Given the description of an element on the screen output the (x, y) to click on. 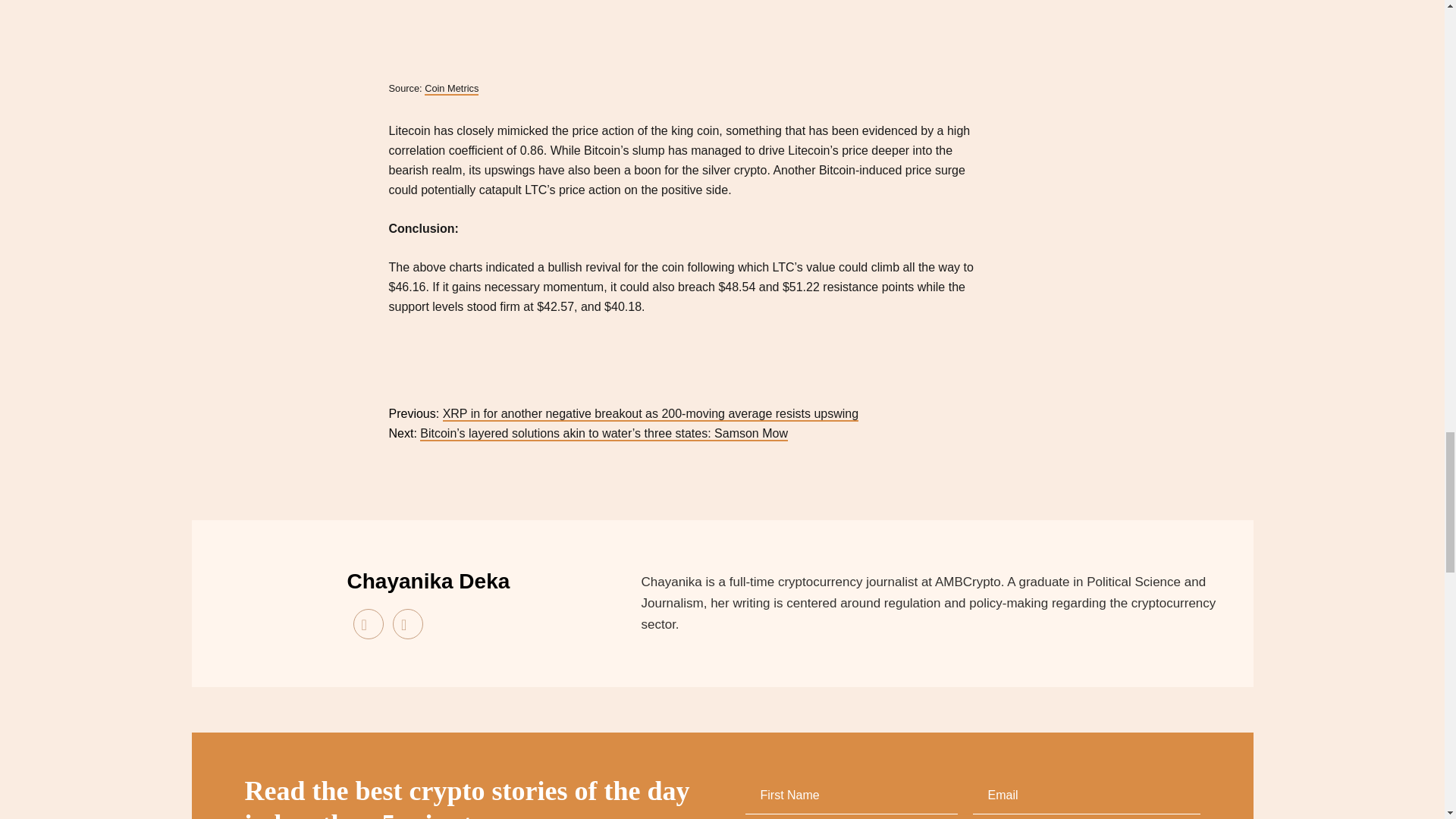
Coin Metrics (452, 88)
Posts by Chayanika Deka (429, 580)
